Given the description of an element on the screen output the (x, y) to click on. 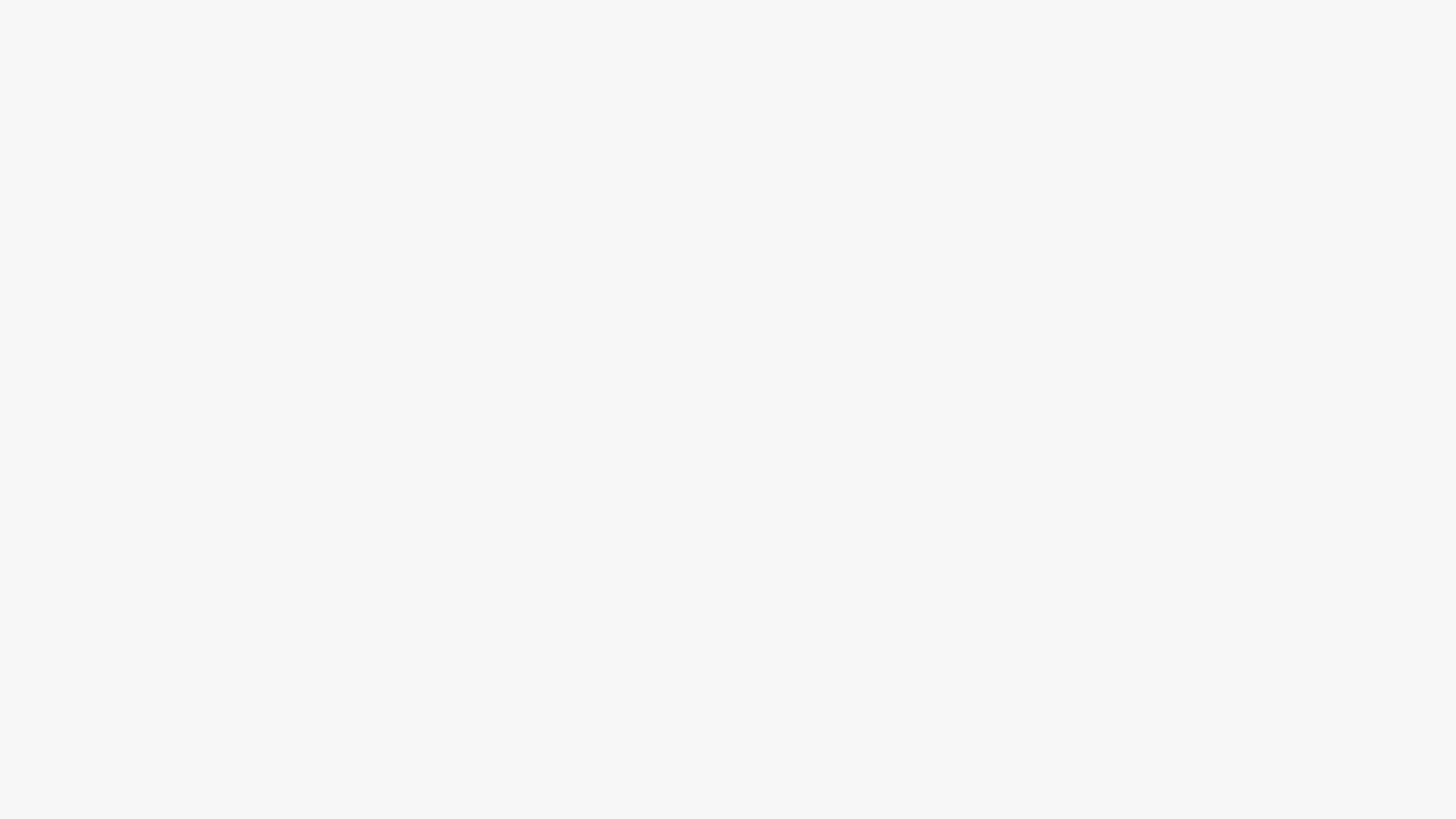
Submit Element type: text (728, 432)
